Given the description of an element on the screen output the (x, y) to click on. 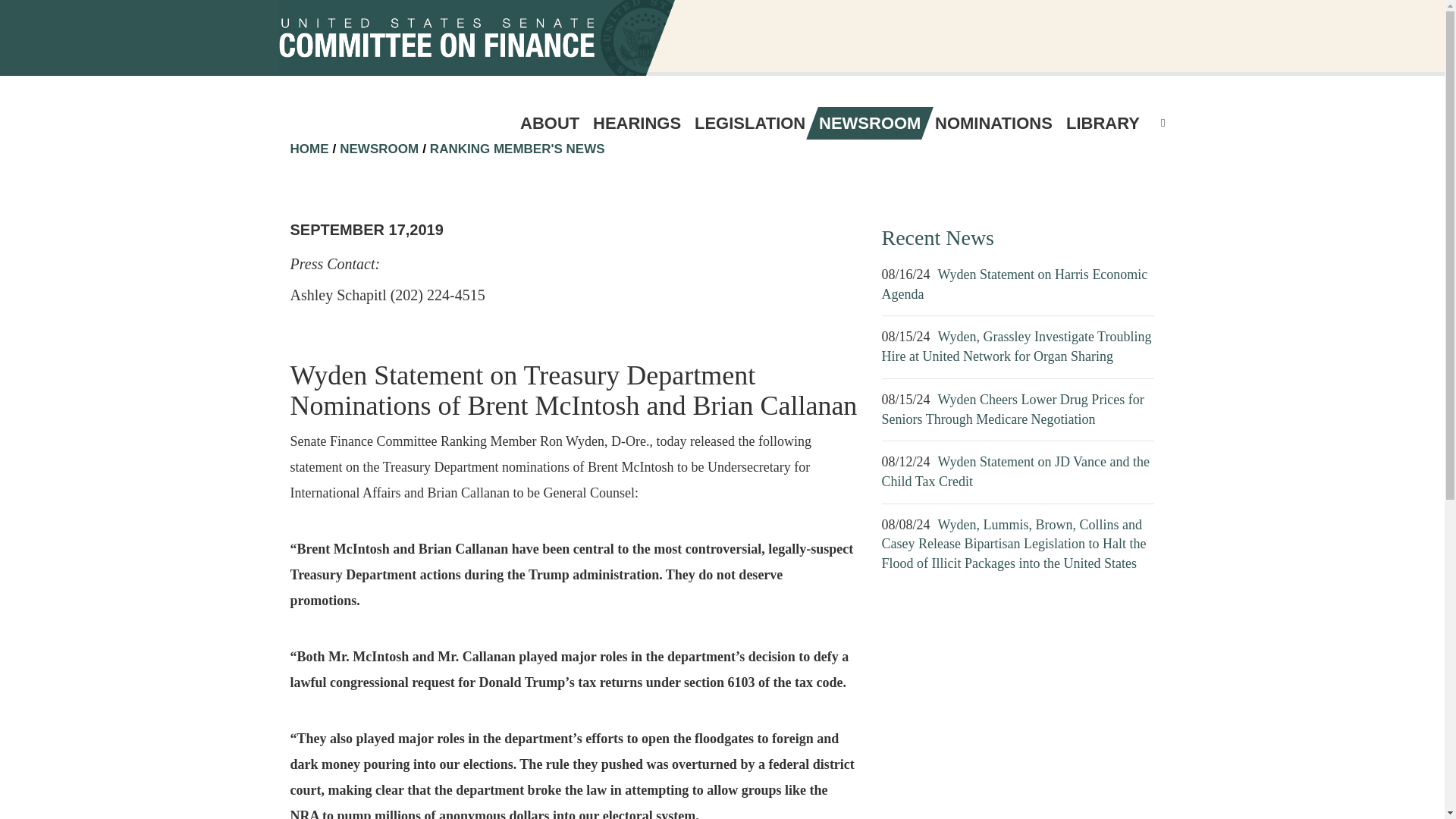
NOMINATIONS (993, 123)
LEGISLATION (749, 123)
HEARINGS (636, 123)
